Given the description of an element on the screen output the (x, y) to click on. 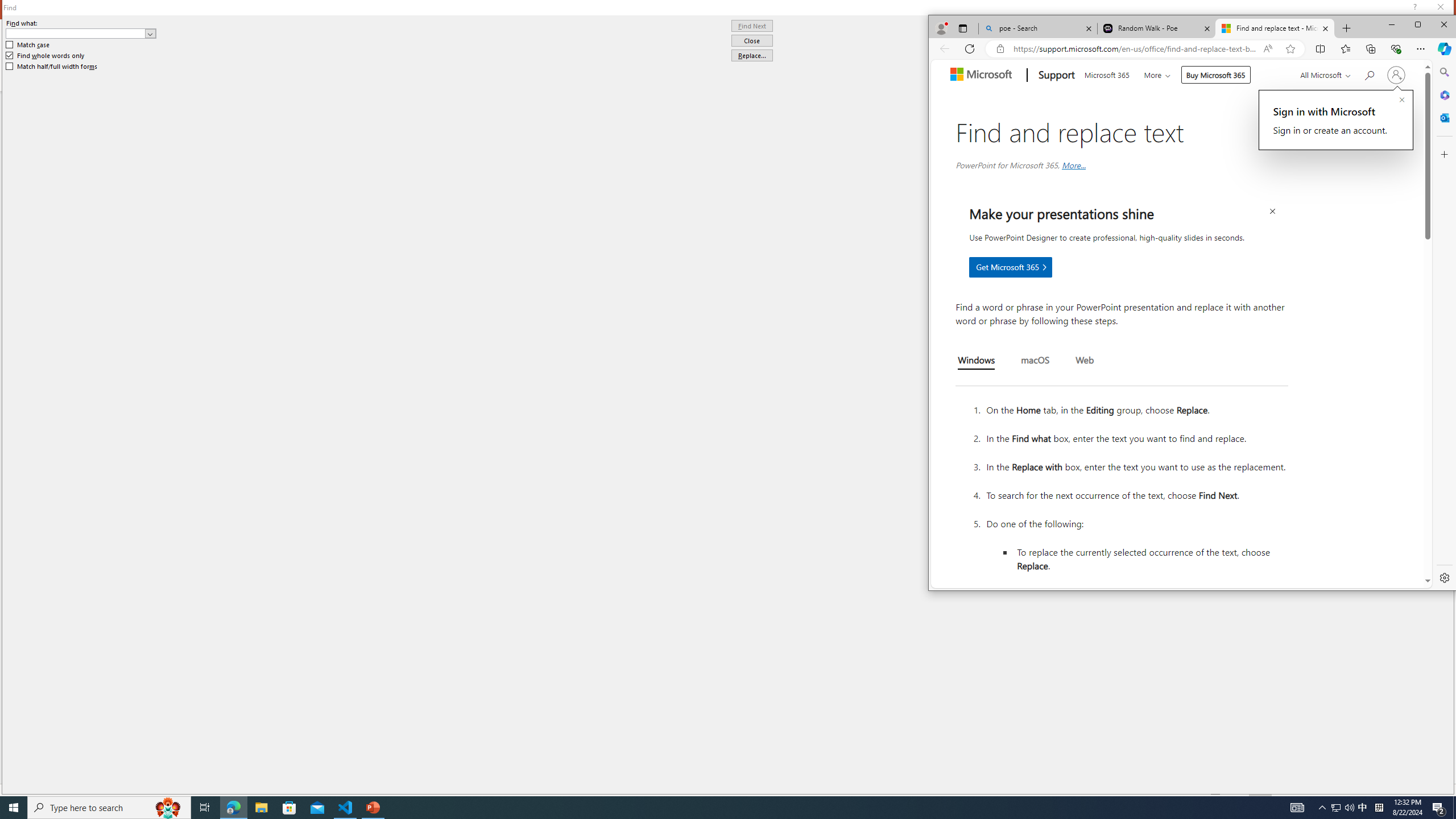
Tab actions menu (962, 28)
Sign in to your account (1396, 74)
Close callout prompt. (1402, 99)
